Given the description of an element on the screen output the (x, y) to click on. 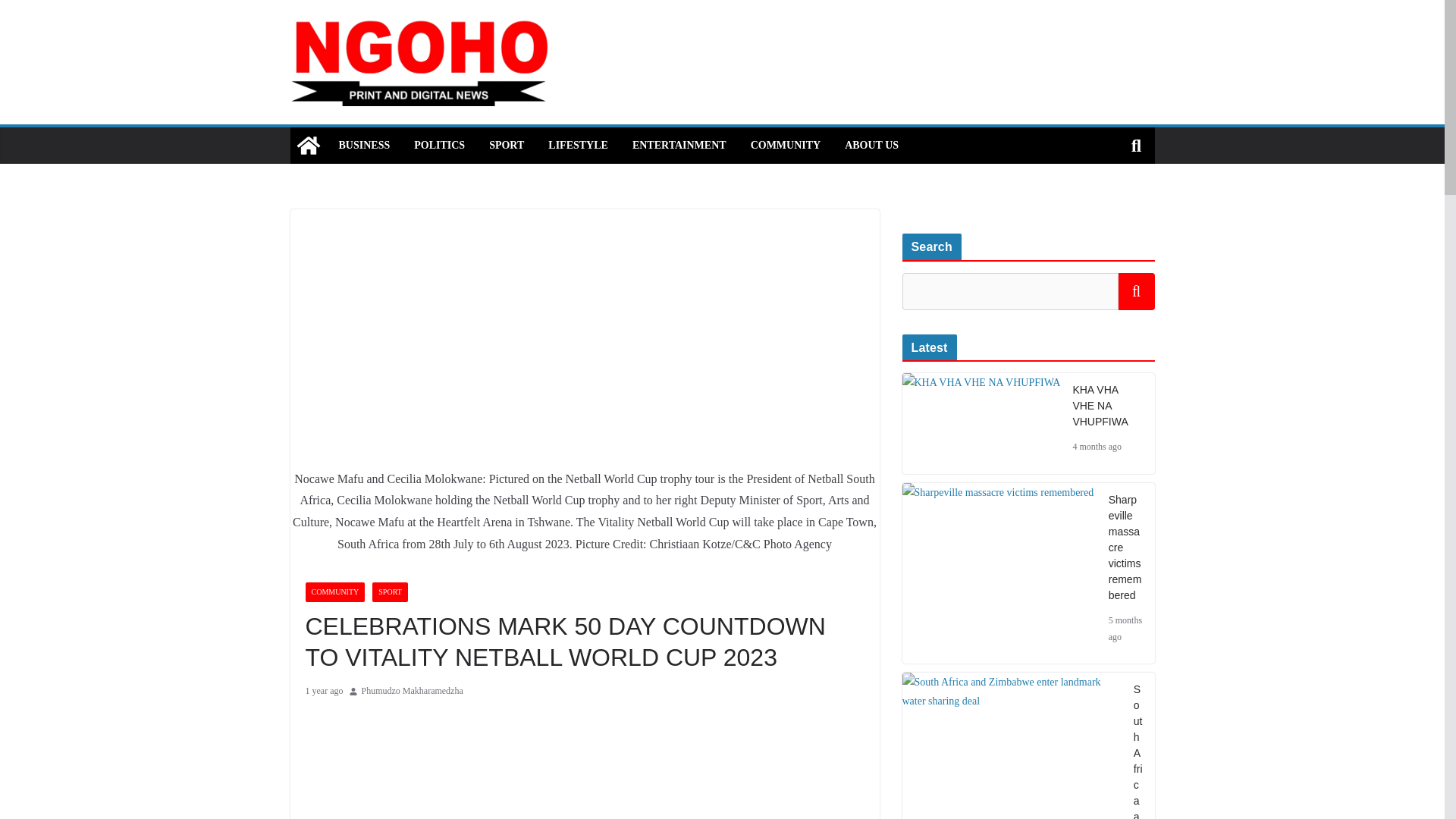
Phumudzo Makharamedzha (412, 691)
BUSINESS (363, 145)
POLITICS (438, 145)
Phumudzo Makharamedzha (412, 691)
ENTERTAINMENT (678, 145)
LIFESTYLE (578, 145)
KHA VHA VHE NA VHUPFIWA (981, 382)
COMMUNITY (334, 591)
Ngoho Media (307, 145)
